Given the description of an element on the screen output the (x, y) to click on. 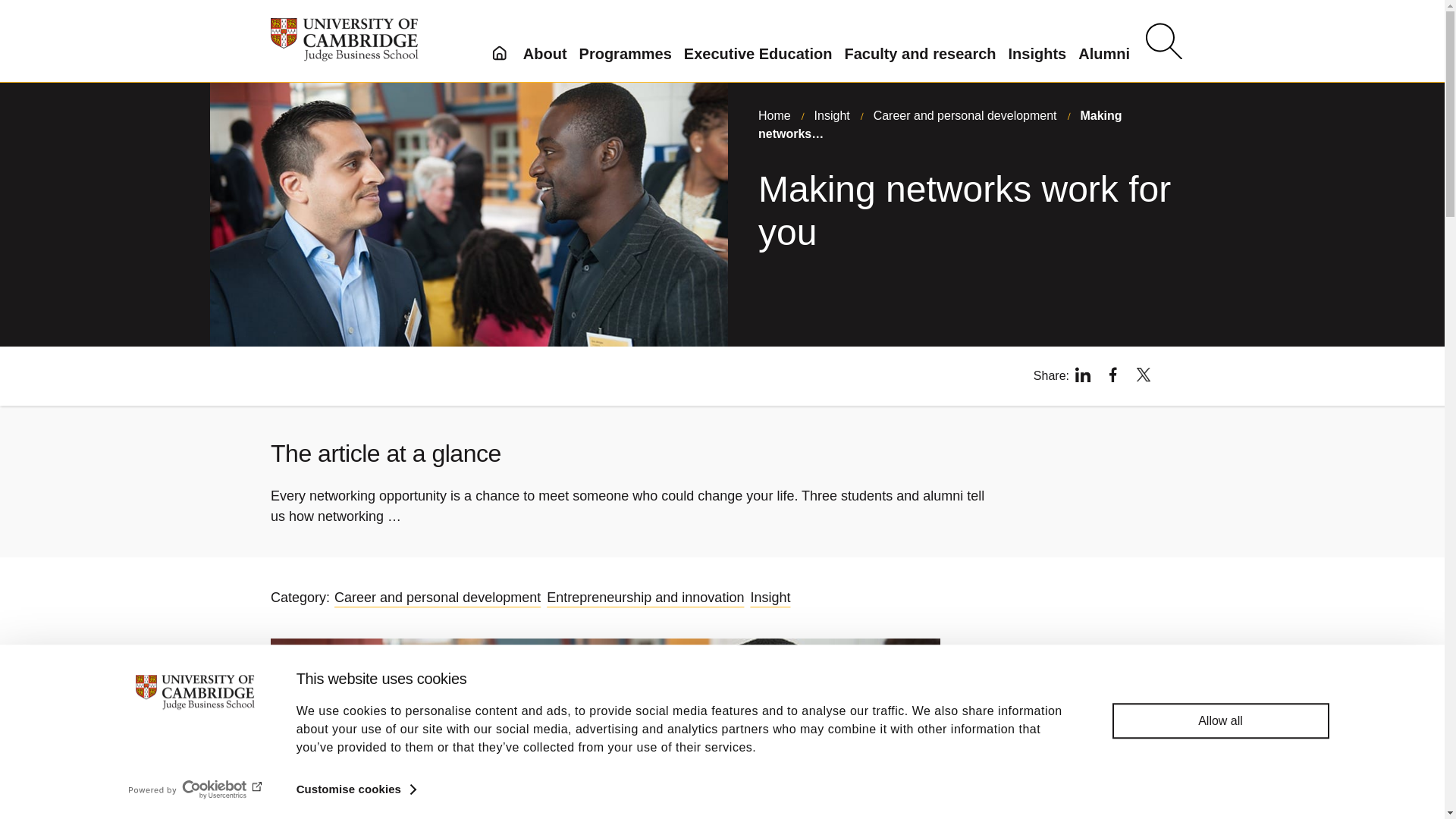
Customise cookies (355, 789)
